Given the description of an element on the screen output the (x, y) to click on. 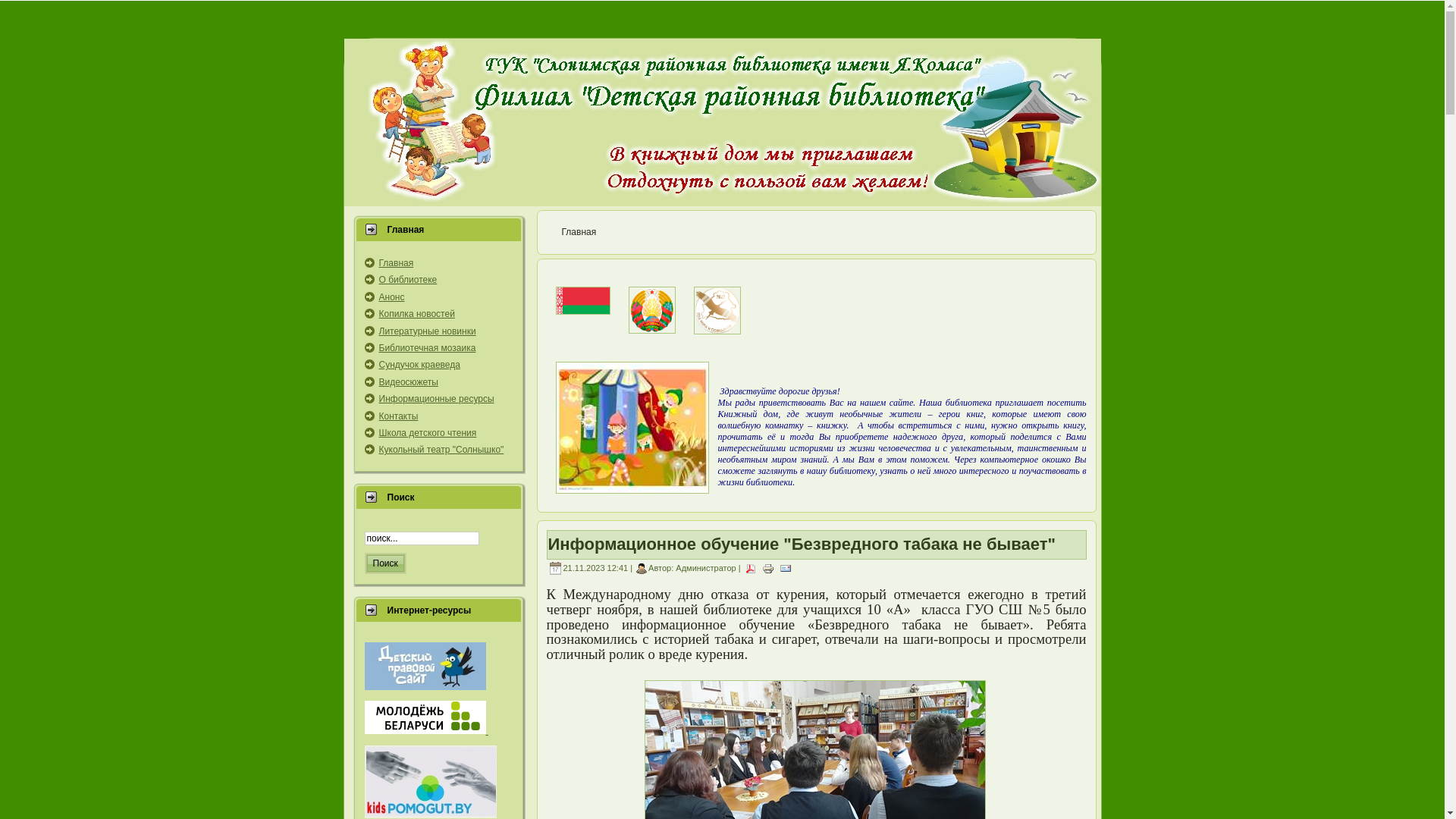
E-mail Element type: hover (785, 566)
  Element type: text (425, 730)
PDF Element type: hover (750, 566)
